Given the description of an element on the screen output the (x, y) to click on. 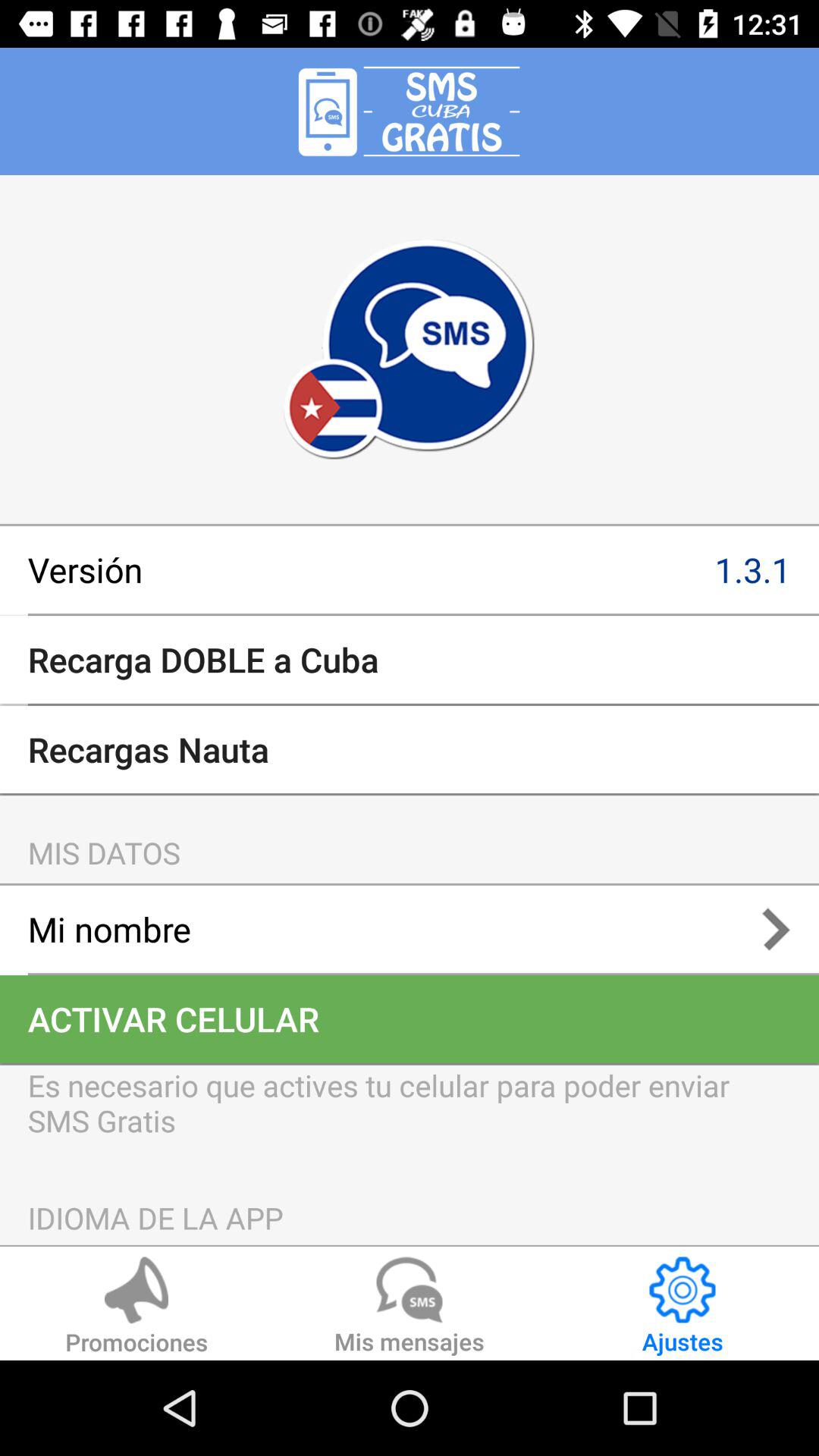
turn off the icon below idioma de la app (409, 1308)
